Given the description of an element on the screen output the (x, y) to click on. 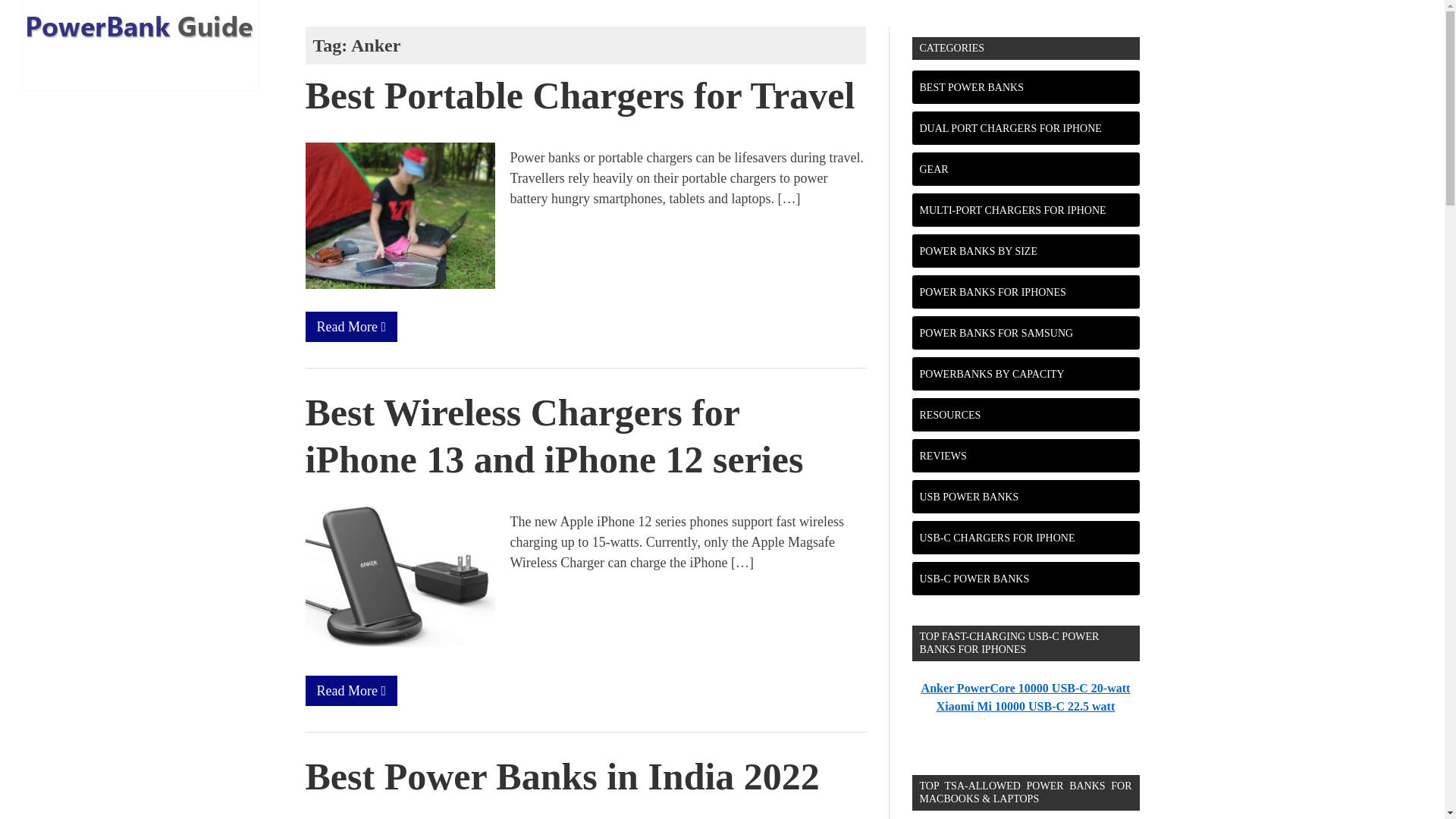
Best Portable Chargers for Travel (579, 95)
Read More (350, 326)
